Given the description of an element on the screen output the (x, y) to click on. 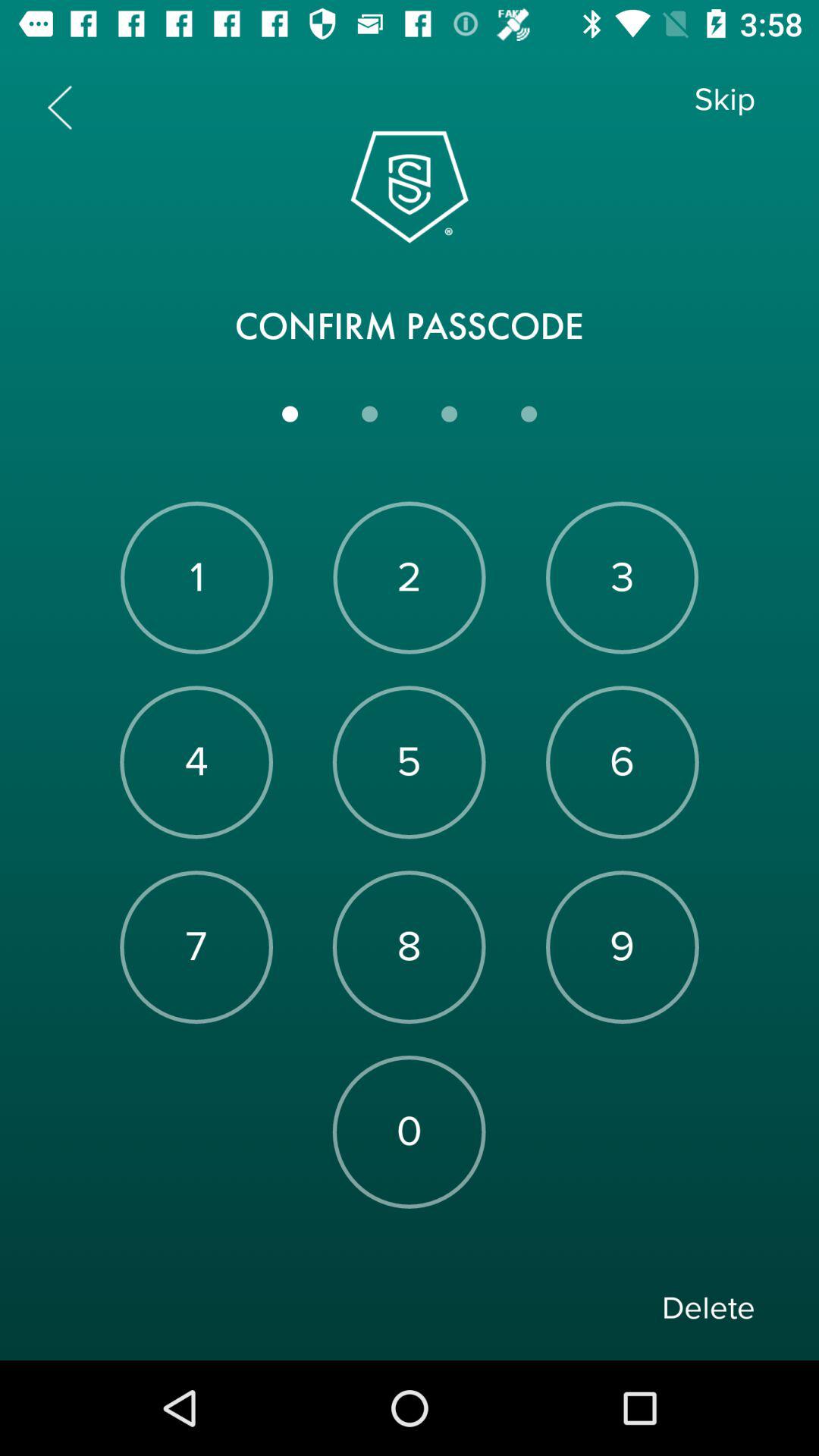
go to previous page (59, 107)
